Given the description of an element on the screen output the (x, y) to click on. 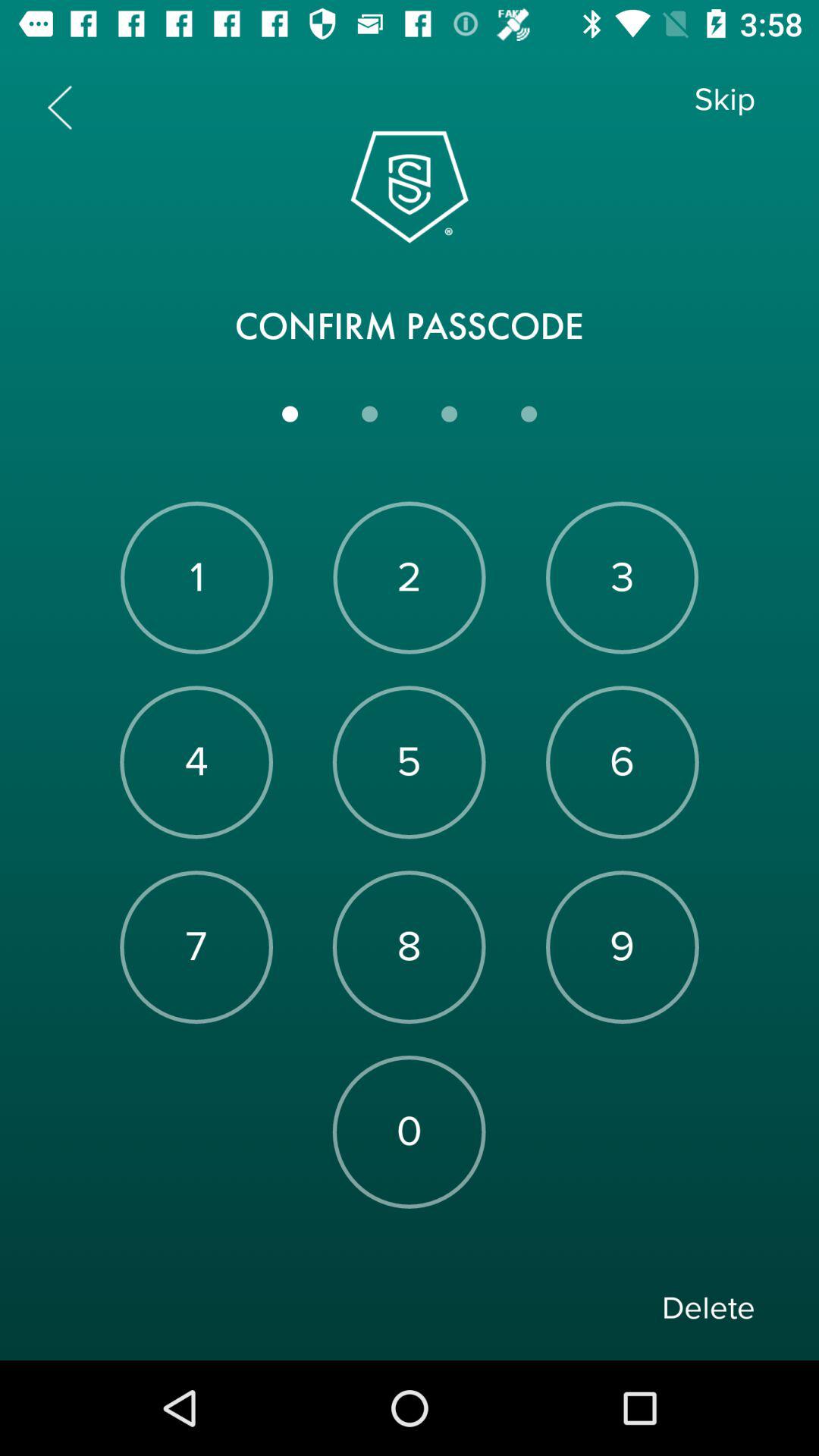
go to previous page (59, 107)
